Given the description of an element on the screen output the (x, y) to click on. 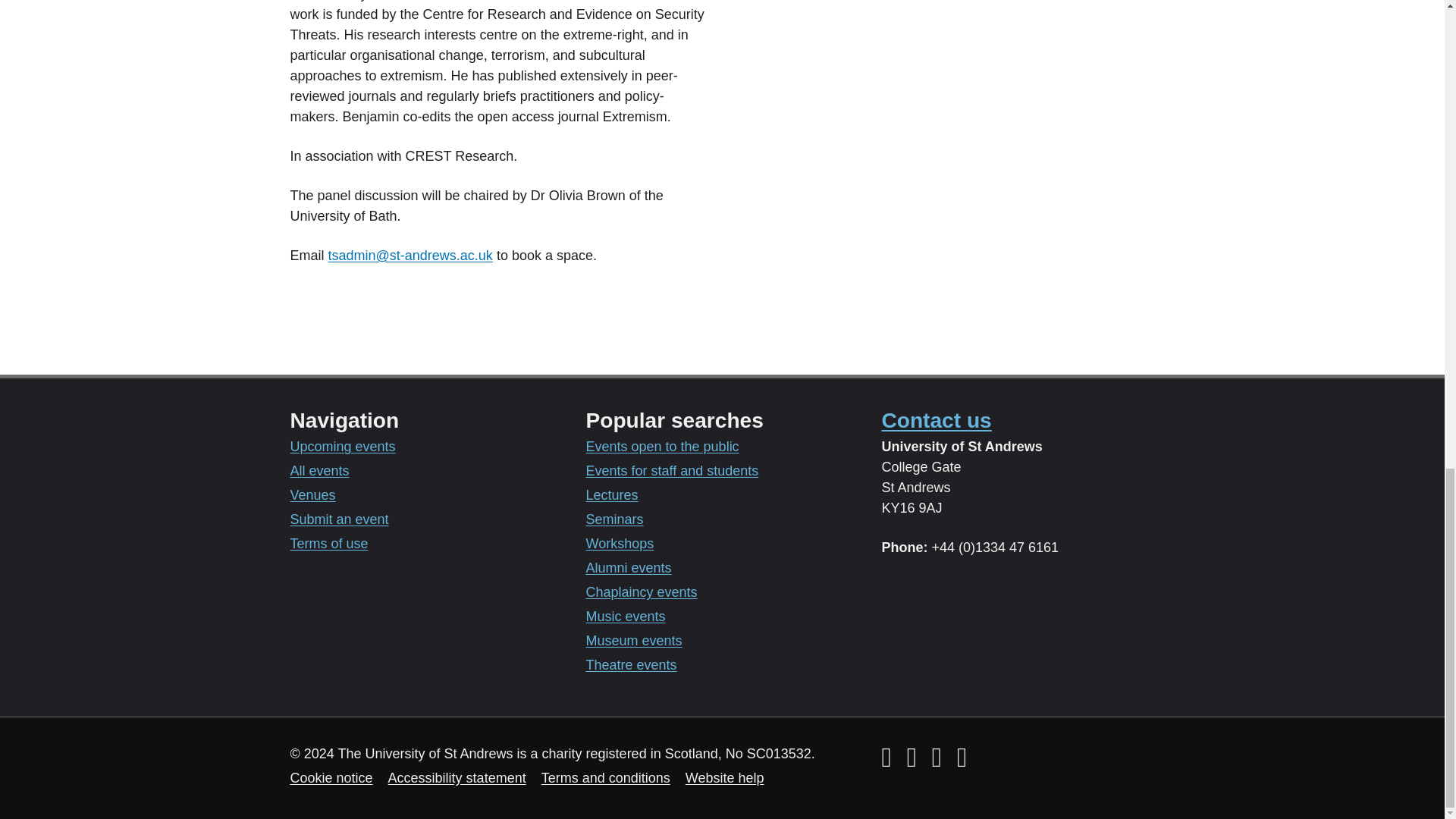
Theatre events (631, 664)
Terms of use (328, 543)
Alumni events (628, 567)
Seminars (614, 519)
Lectures (611, 494)
Chaplaincy events (641, 591)
Upcoming events (341, 446)
Museum events (633, 640)
Events open to the public (661, 446)
Contact us (935, 420)
